Given the description of an element on the screen output the (x, y) to click on. 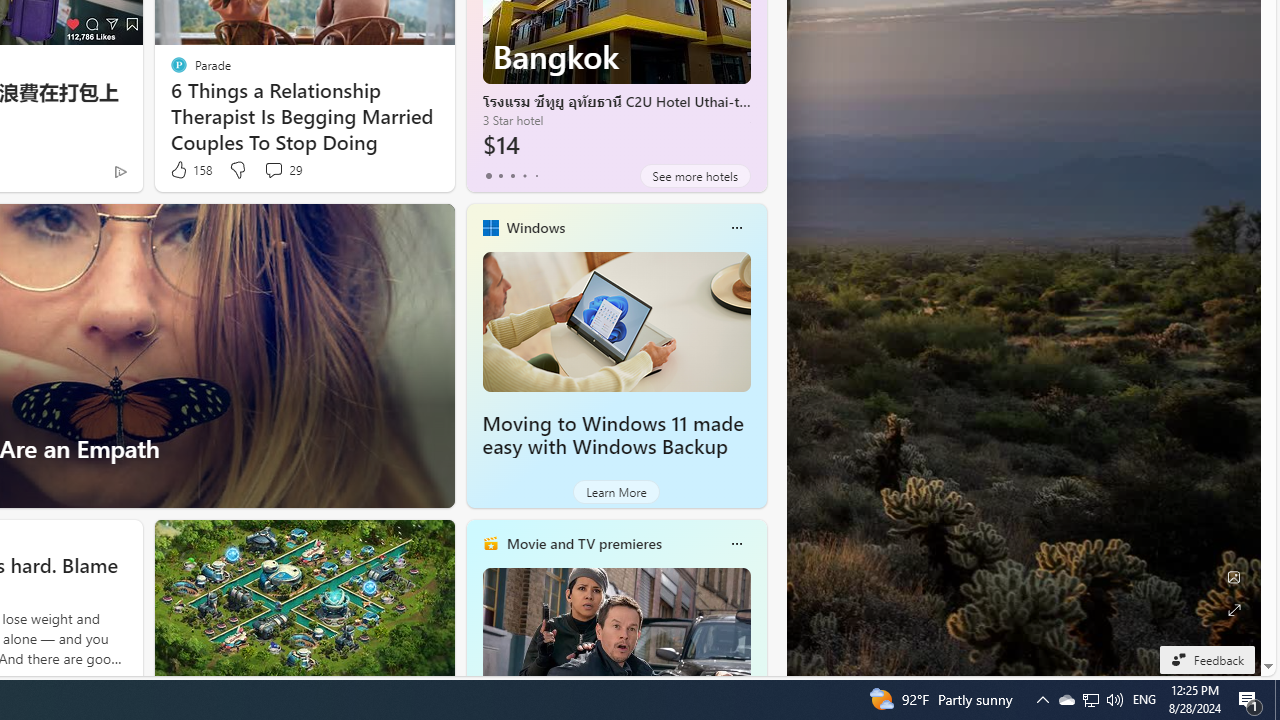
tab-0 (488, 175)
Learn More (616, 491)
Moving to Windows 11 made easy with Windows Backup (612, 435)
tab-1 (500, 175)
Windows (535, 227)
Edit Background (1233, 577)
